Given the description of an element on the screen output the (x, y) to click on. 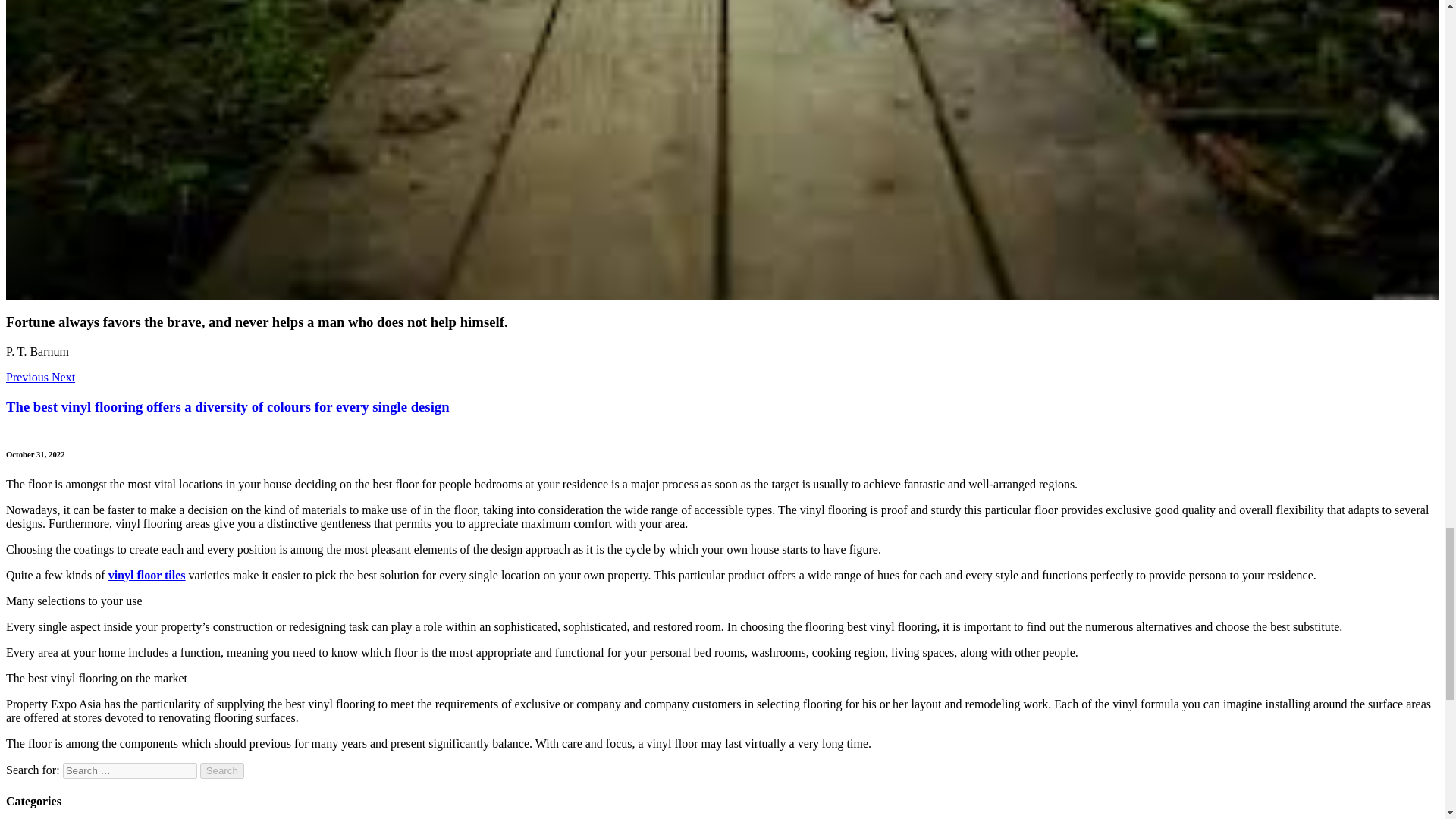
Previous (27, 377)
Search (222, 770)
Next (62, 377)
vinyl floor tiles (146, 574)
Search (222, 770)
Search (222, 770)
